Given the description of an element on the screen output the (x, y) to click on. 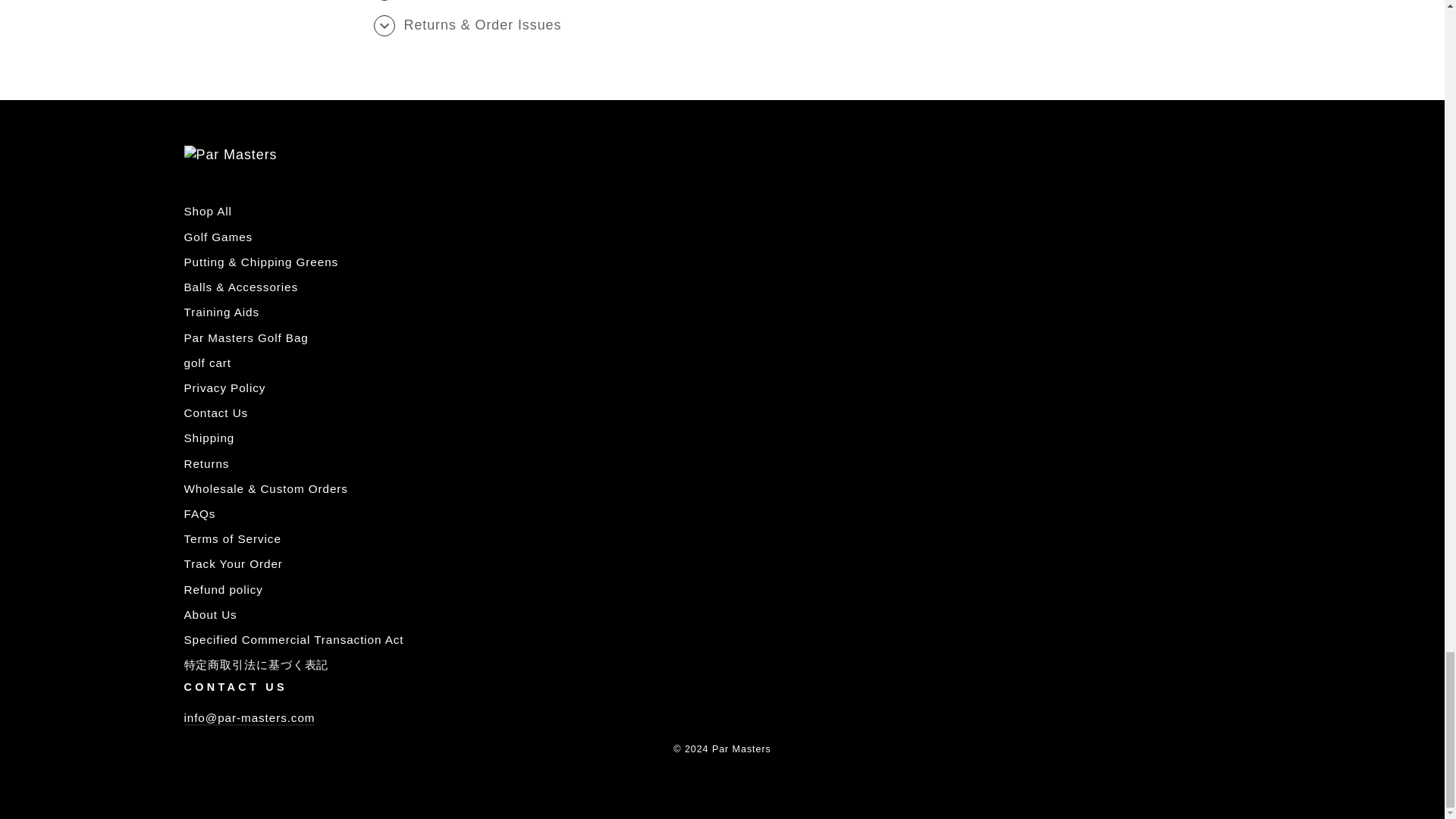
Contact Us (248, 718)
